Given the description of an element on the screen output the (x, y) to click on. 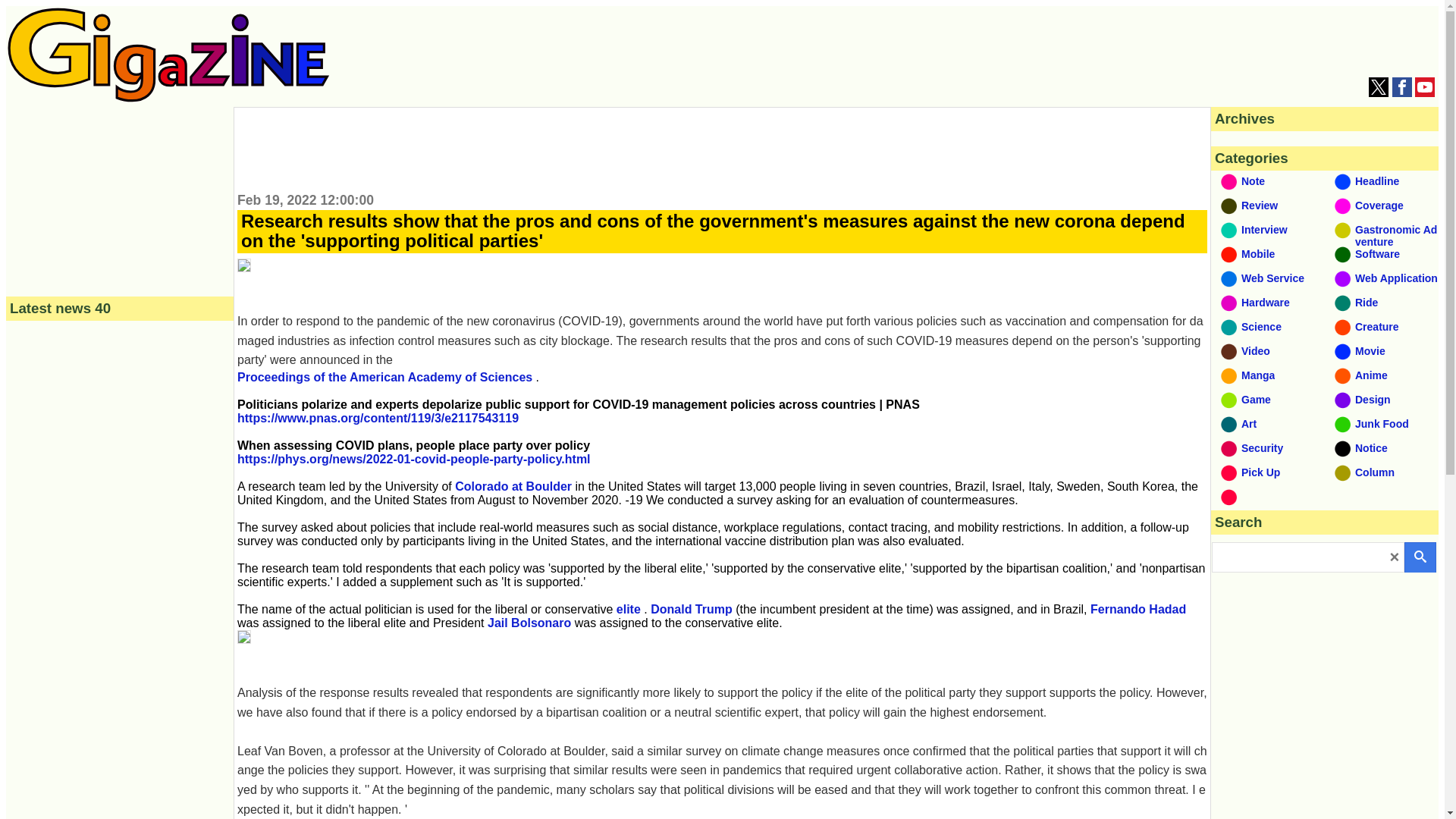
Jail Bolsonaro (528, 622)
Colorado at Boulder (513, 486)
Donald Trump (691, 608)
elite (627, 608)
Fernando Hadad (1138, 608)
GIGAZINE (168, 97)
GIGAZINE (168, 54)
Proceedings of the American Academy of Sciences (384, 377)
